Given the description of an element on the screen output the (x, y) to click on. 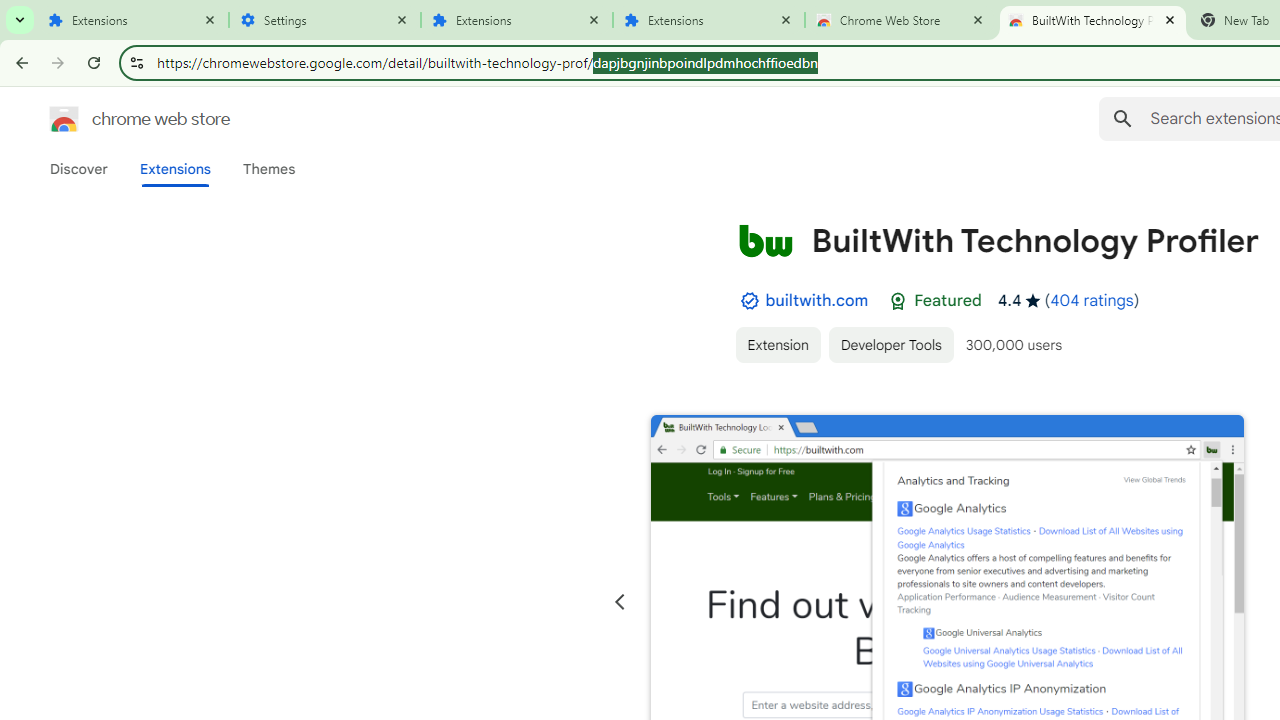
Discover (79, 169)
Developer Tools (890, 344)
Chrome Web Store logo chrome web store (118, 118)
By Established Publisher Badge (749, 301)
Themes (269, 169)
Settings (325, 20)
Featured Badge (898, 301)
Previous slide (619, 601)
404 ratings (1091, 300)
builtwith.com (817, 300)
